Given the description of an element on the screen output the (x, y) to click on. 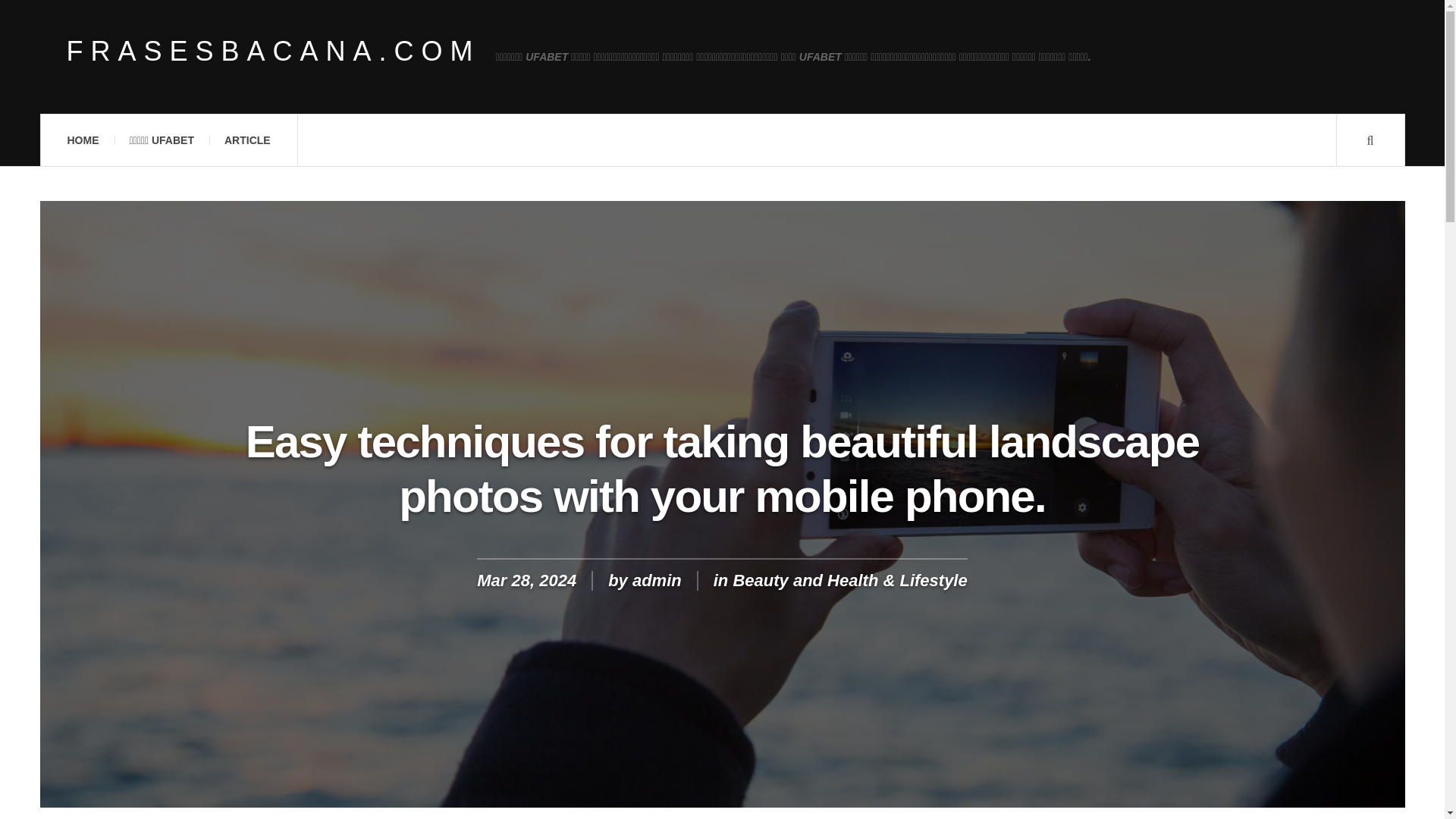
ARTICLE (247, 140)
FRASESBACANA.COM (273, 51)
admin (656, 579)
frasesbacana.com (273, 51)
HOME (81, 140)
